Given the description of an element on the screen output the (x, y) to click on. 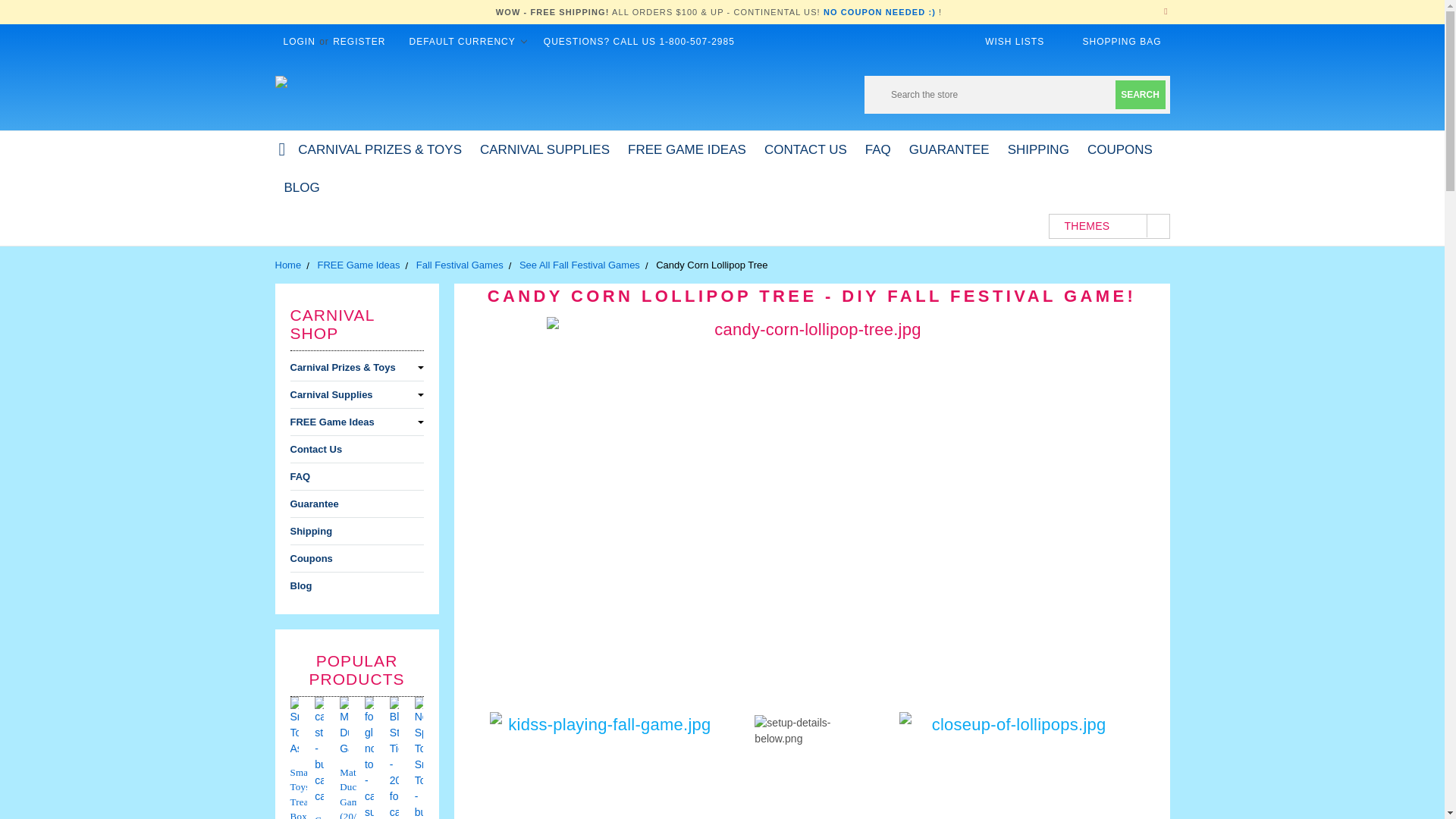
Search (1139, 94)
Search (1139, 94)
View Cart (1068, 41)
Carnival Savers (280, 81)
